Given the description of an element on the screen output the (x, y) to click on. 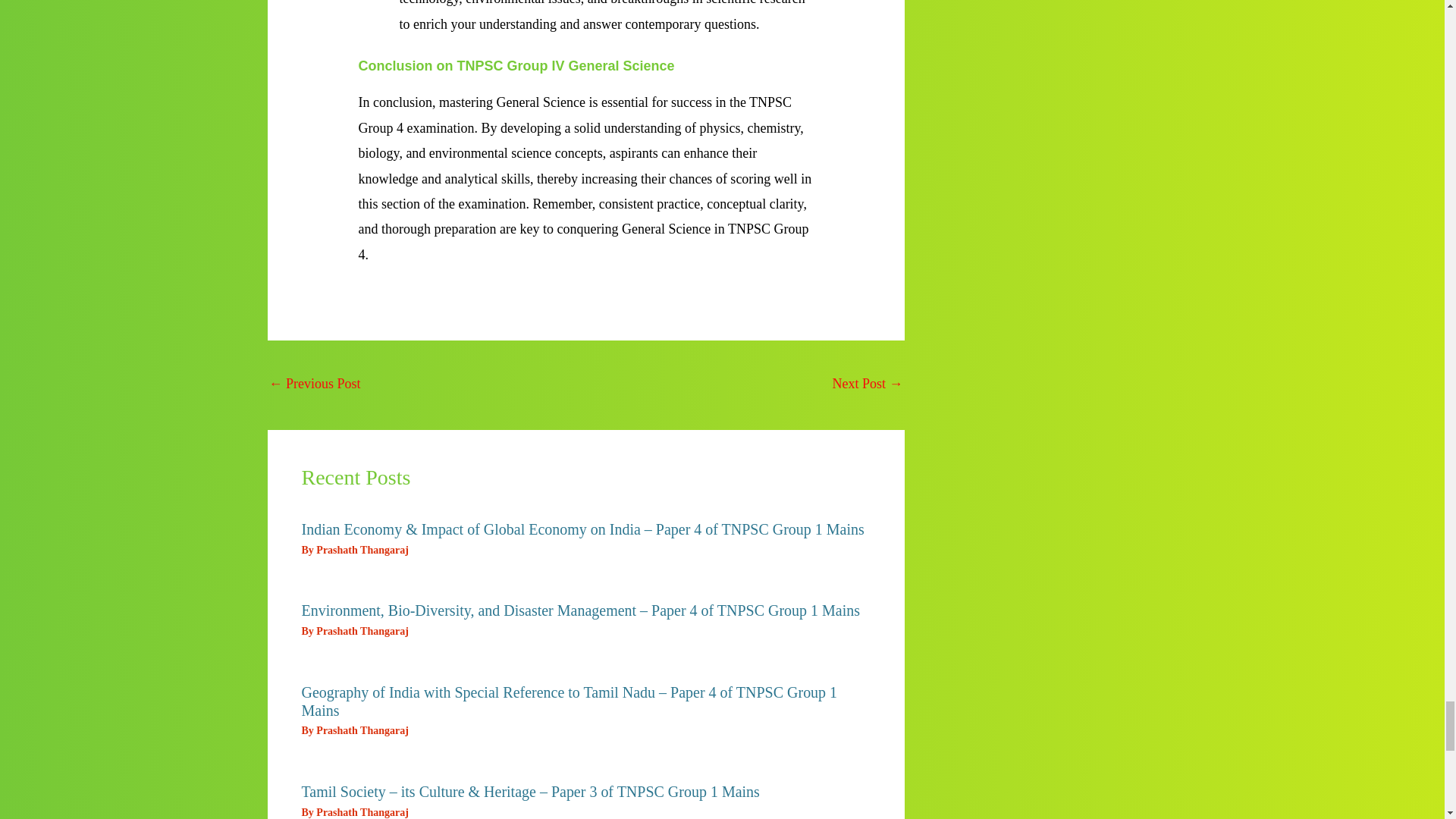
View all posts by Prashath Thangaraj (361, 812)
View all posts by Prashath Thangaraj (361, 730)
View all posts by Prashath Thangaraj (361, 550)
View all posts by Prashath Thangaraj (361, 631)
